Given the description of an element on the screen output the (x, y) to click on. 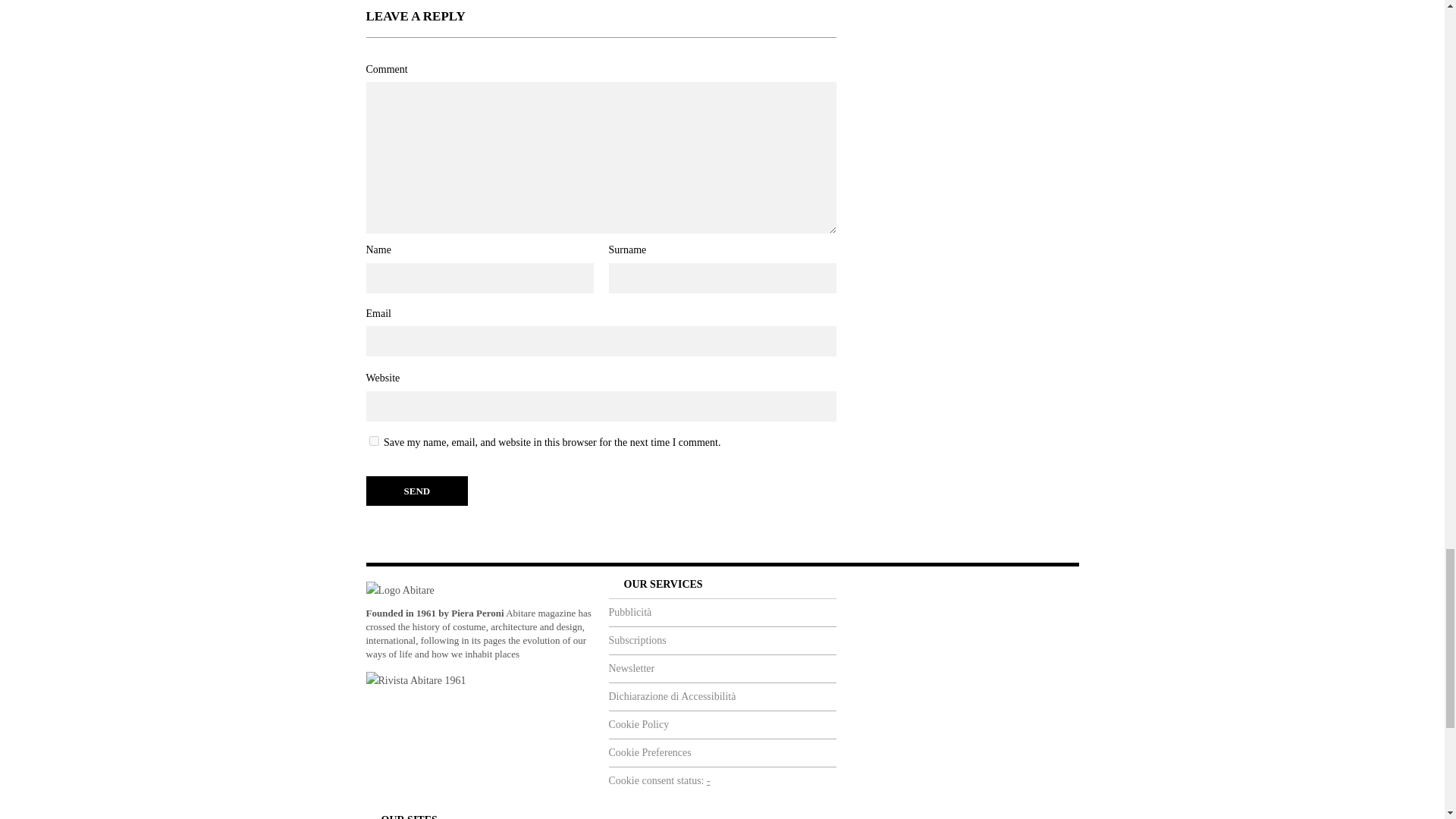
Cookie Preferences (721, 752)
Send (416, 490)
yes (373, 440)
